Given the description of an element on the screen output the (x, y) to click on. 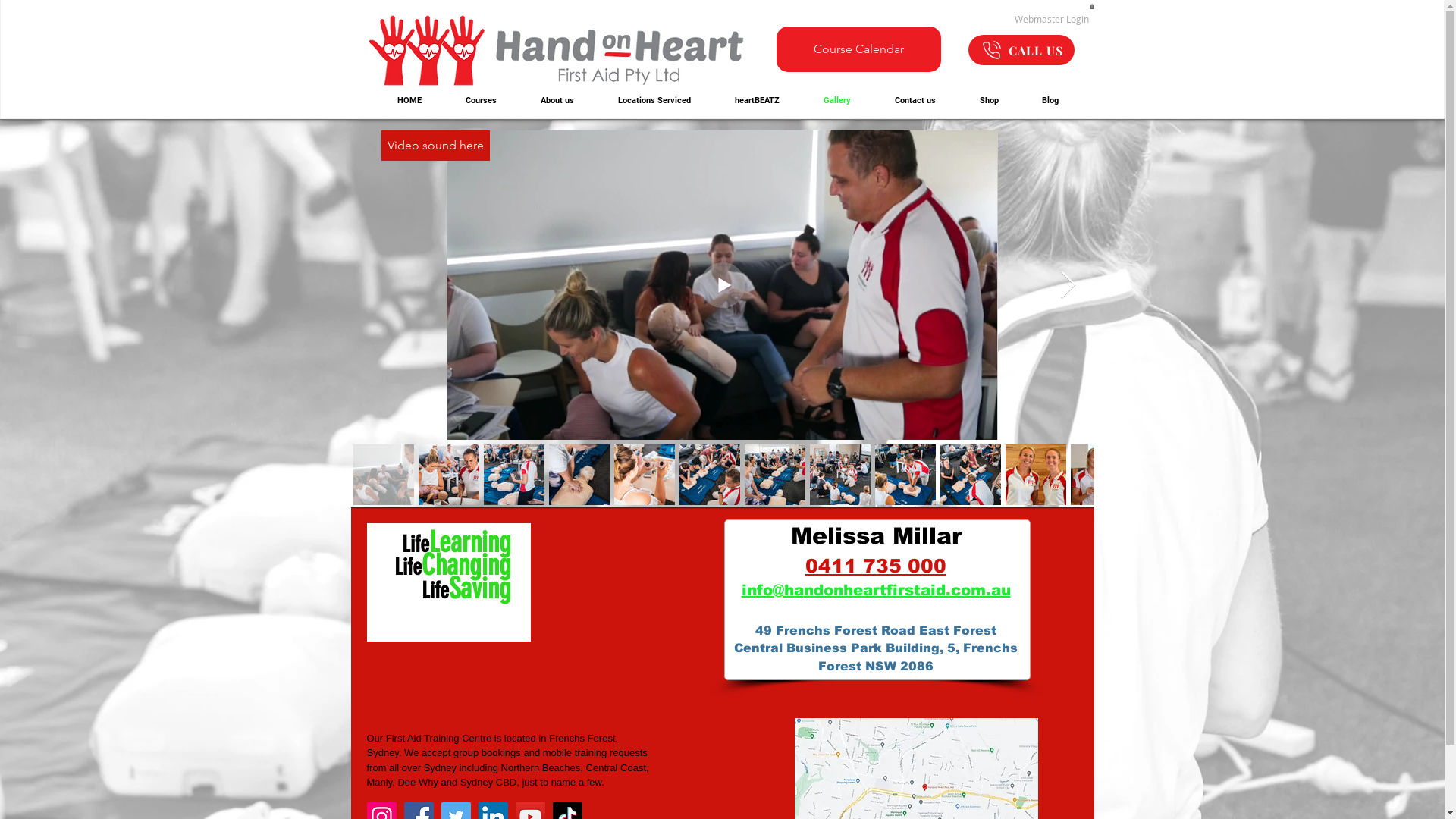
Locations Serviced Element type: text (654, 100)
Gallery Element type: text (836, 100)
0411 735 000 Element type: text (875, 565)
Video sound here Element type: text (434, 145)
heartBEATZ Element type: text (756, 100)
Blog Element type: text (1050, 100)
Course Calendar Element type: text (858, 49)
CALL US Element type: text (1020, 49)
Shop Element type: text (988, 100)
Webmaster Login Element type: text (1050, 18)
Contact us Element type: text (914, 100)
Courses Element type: text (479, 100)
HOME Element type: text (408, 100)
About us Element type: text (557, 100)
0 Element type: text (1090, 6)
info@handonheartfirstaid.com.au Element type: text (875, 589)
